Given the description of an element on the screen output the (x, y) to click on. 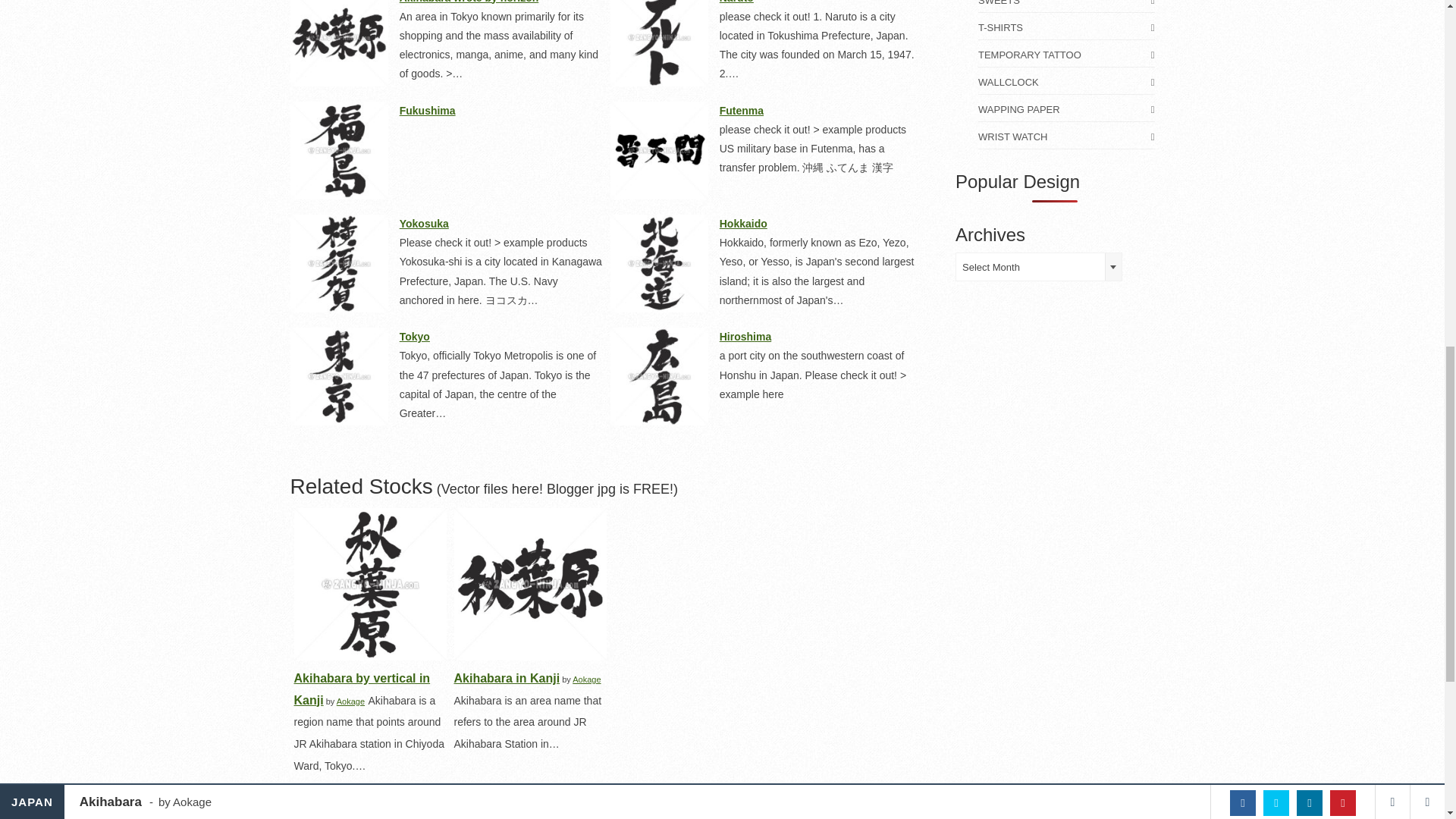
Select Month (1038, 267)
Akihabara by vertical in Kanji (370, 583)
Akihabara in Kanji (528, 583)
